Given the description of an element on the screen output the (x, y) to click on. 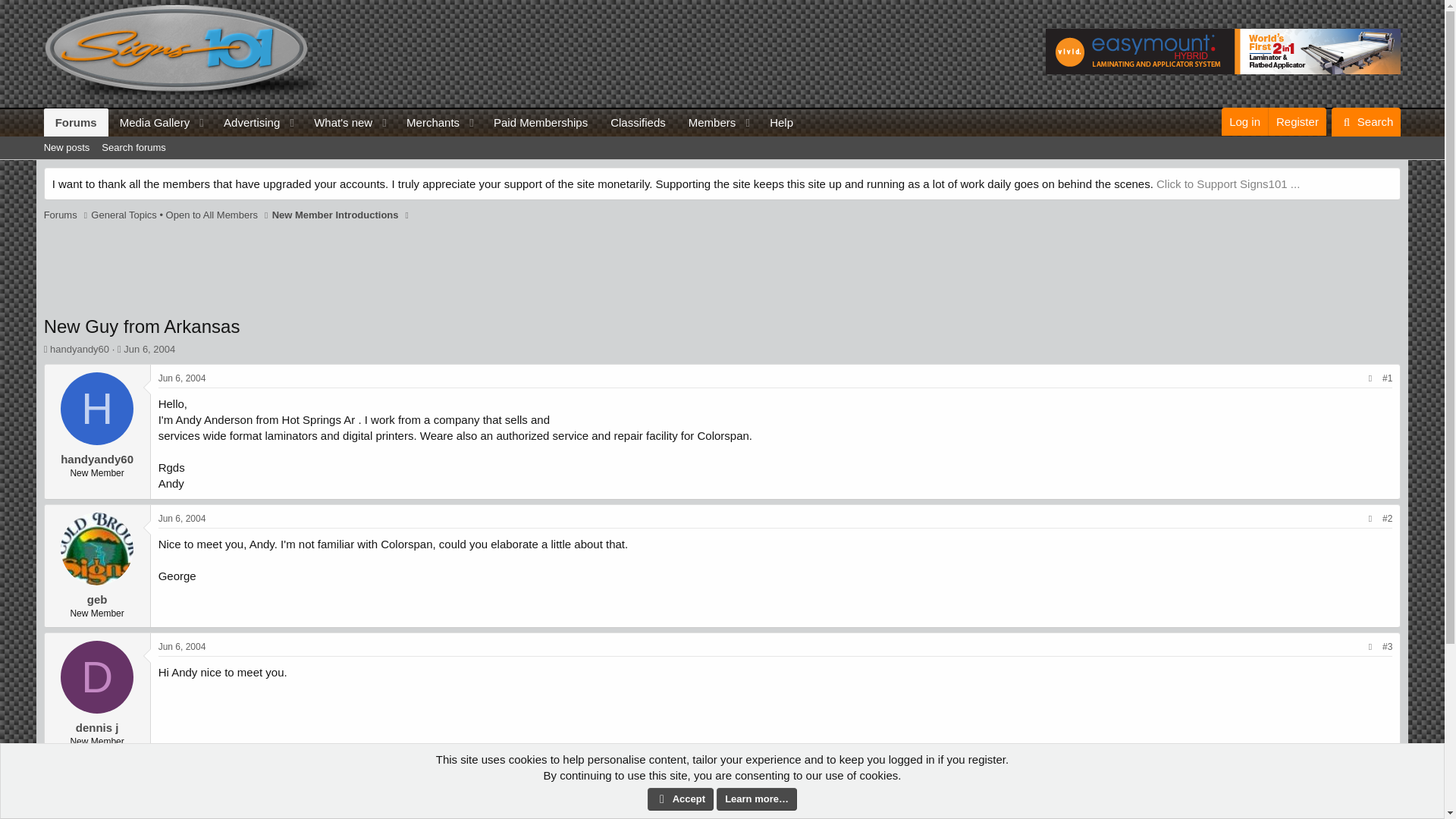
Jun 6, 2004 at 8:42 PM (722, 164)
Members (182, 646)
Help (706, 122)
Log in (781, 122)
Classifieds (1244, 121)
What's new (637, 122)
Paid Memberships (338, 122)
Media Gallery (539, 122)
Merchants (148, 122)
Advertising (427, 122)
Jun 6, 2004 at 2:21 PM (246, 122)
Jun 6, 2004 at 4:13 PM (148, 348)
